Given the description of an element on the screen output the (x, y) to click on. 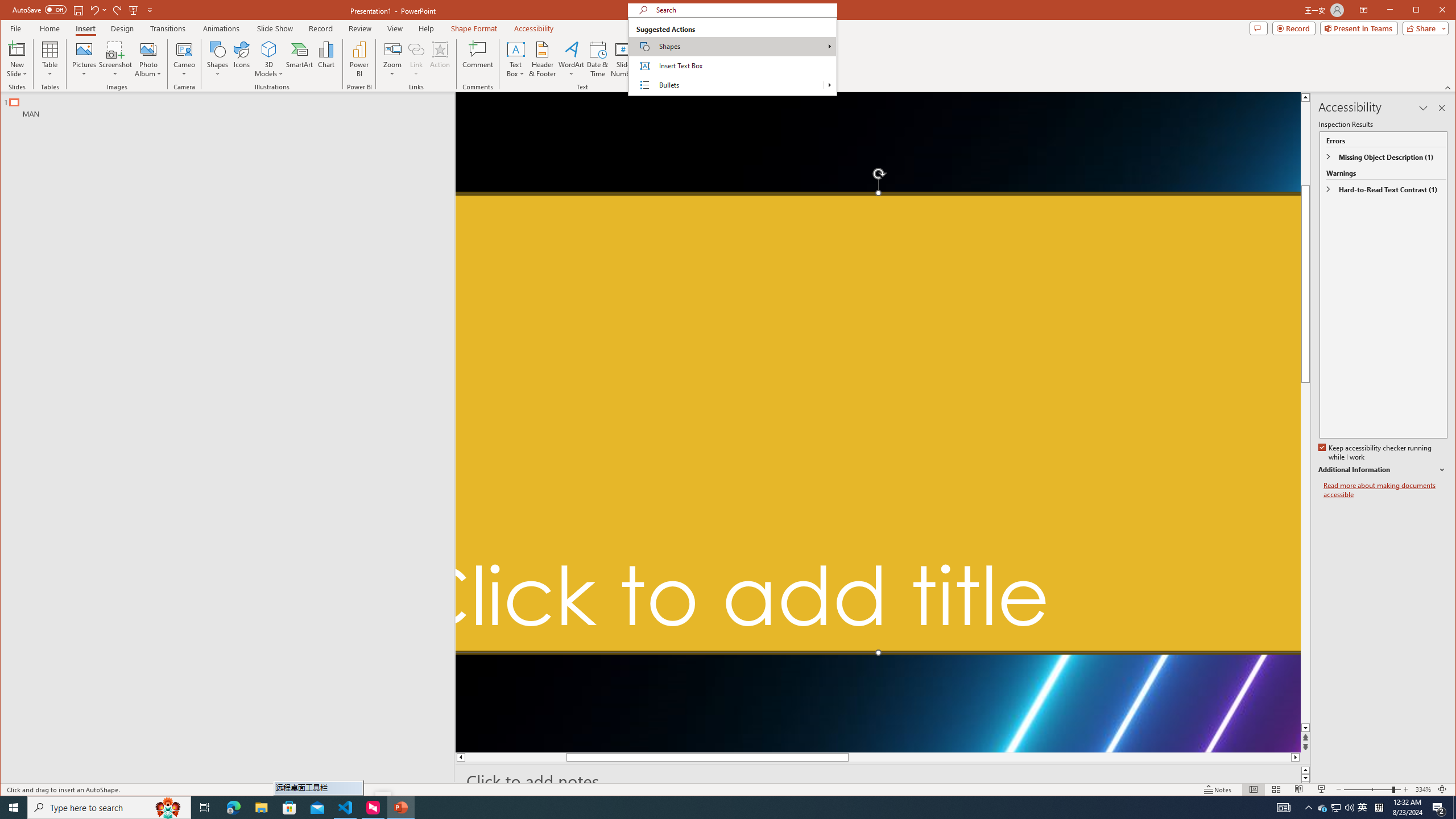
New Photo Album... (148, 48)
Symbol... (712, 59)
